Given the description of an element on the screen output the (x, y) to click on. 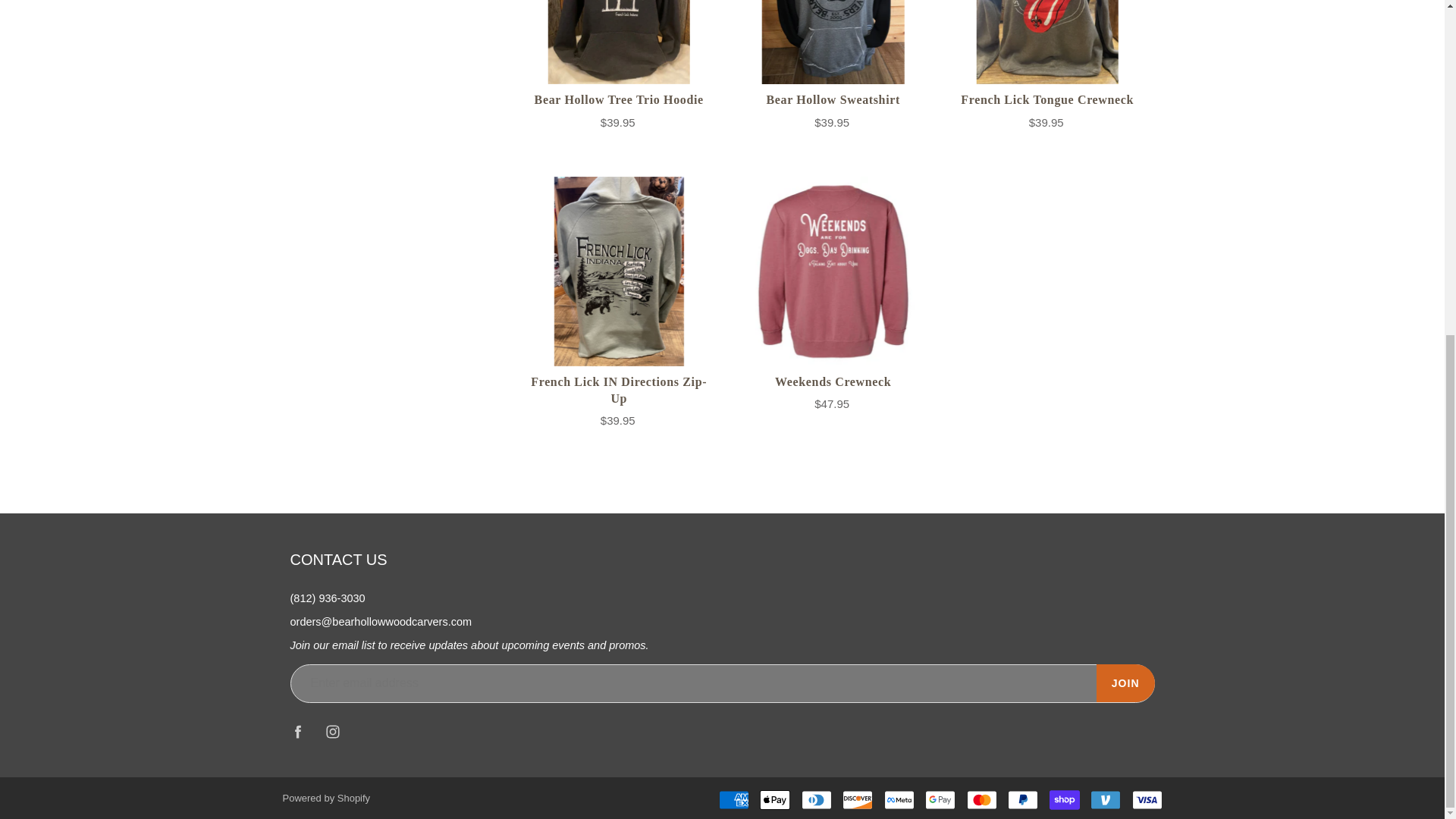
American Express (734, 799)
Venmo (1105, 799)
Shop Pay (1064, 799)
Apple Pay (775, 799)
Google Pay (939, 799)
Visa (1146, 799)
Mastercard (981, 799)
Meta Pay (898, 799)
Discover (857, 799)
Diners Club (816, 799)
Facebook (298, 731)
PayPal (1022, 799)
Instagram (333, 731)
